Given the description of an element on the screen output the (x, y) to click on. 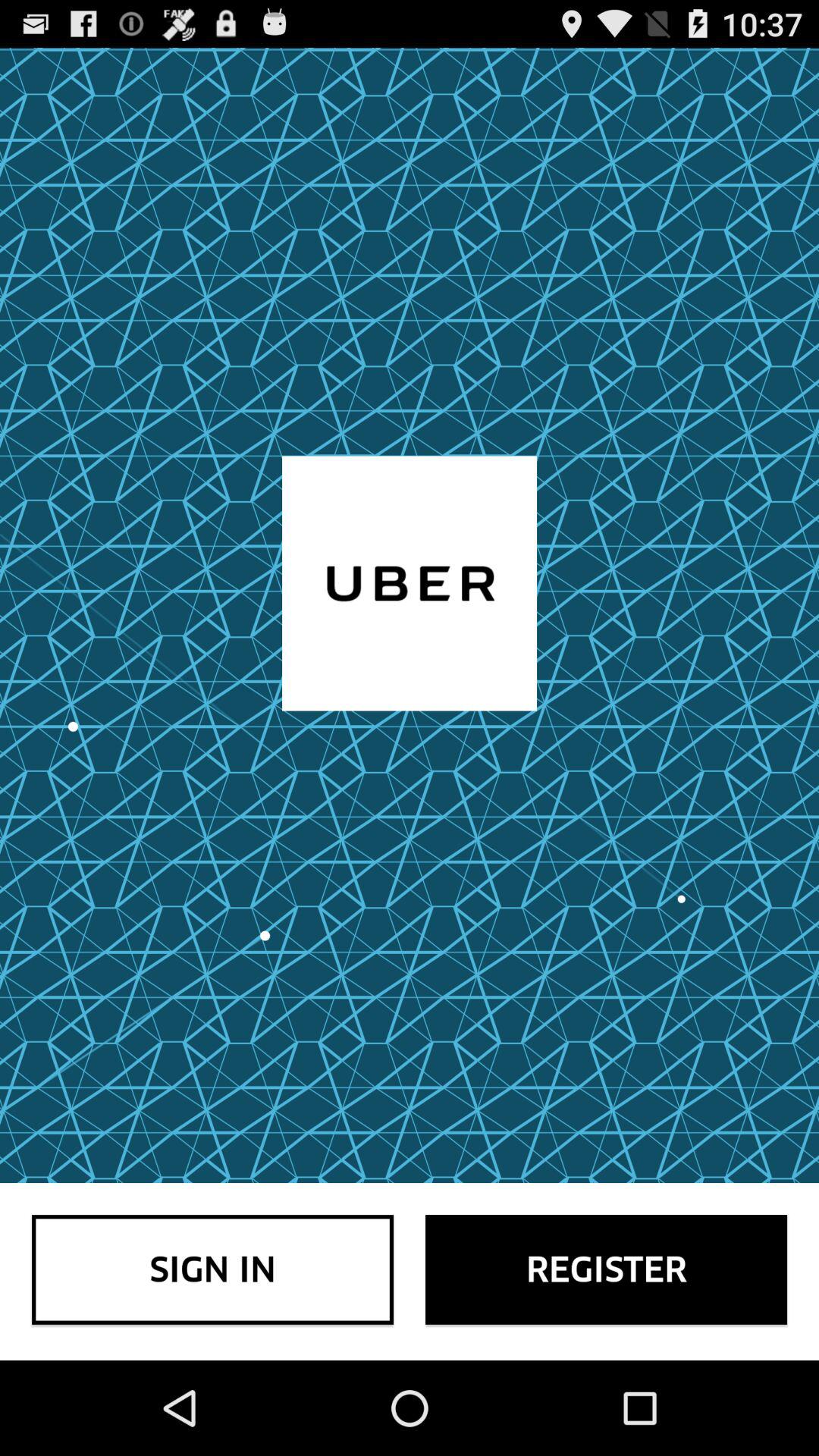
press the item next to the register (212, 1269)
